Given the description of an element on the screen output the (x, y) to click on. 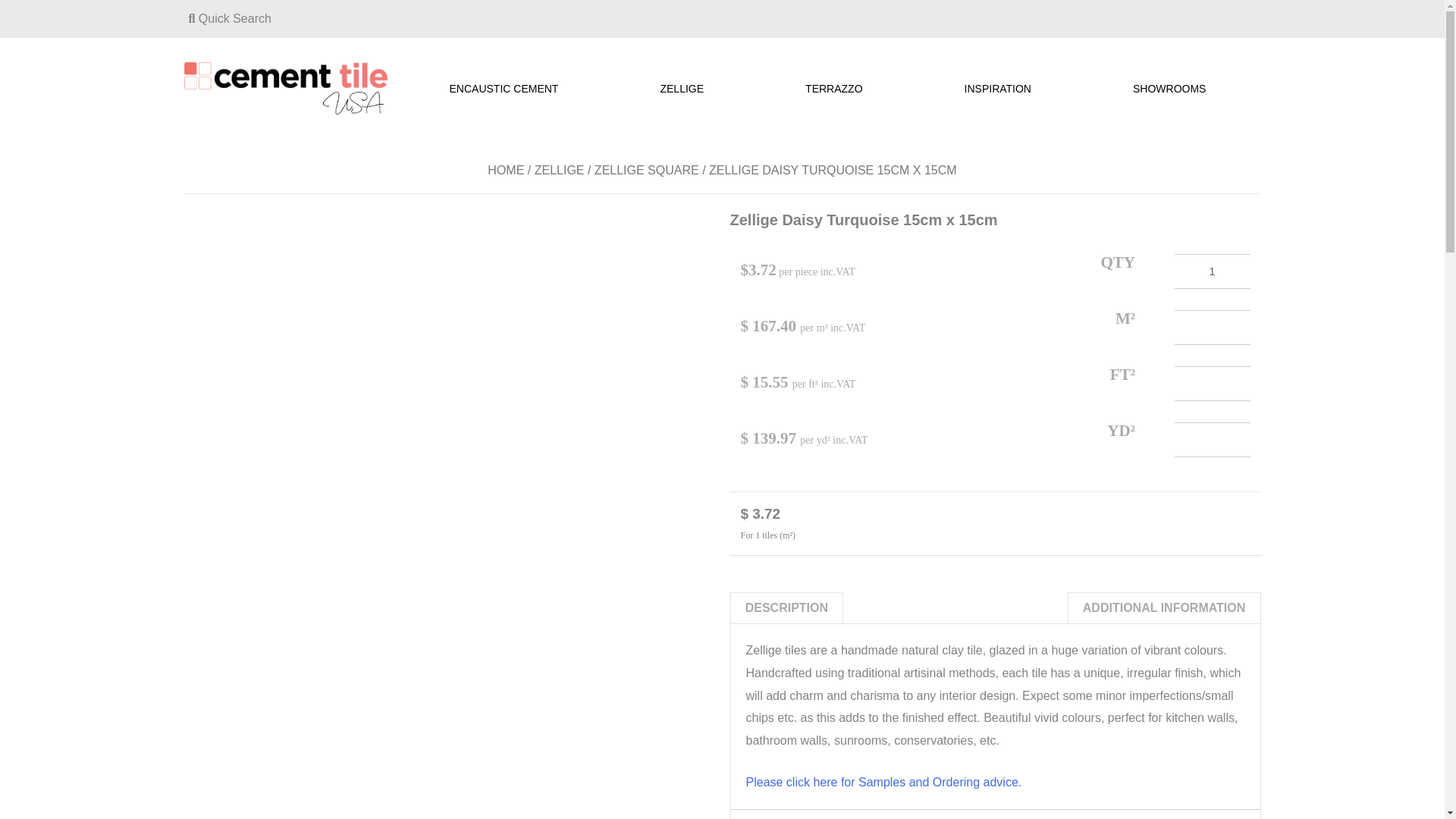
SHOWROOMS (1173, 88)
TERRAZZO (837, 88)
INSPIRATION (1001, 88)
ENCAUSTIC CEMENT (506, 88)
ZELLIGE (685, 88)
Quick Search (229, 18)
Qty (1211, 271)
1 (1211, 271)
